Given the description of an element on the screen output the (x, y) to click on. 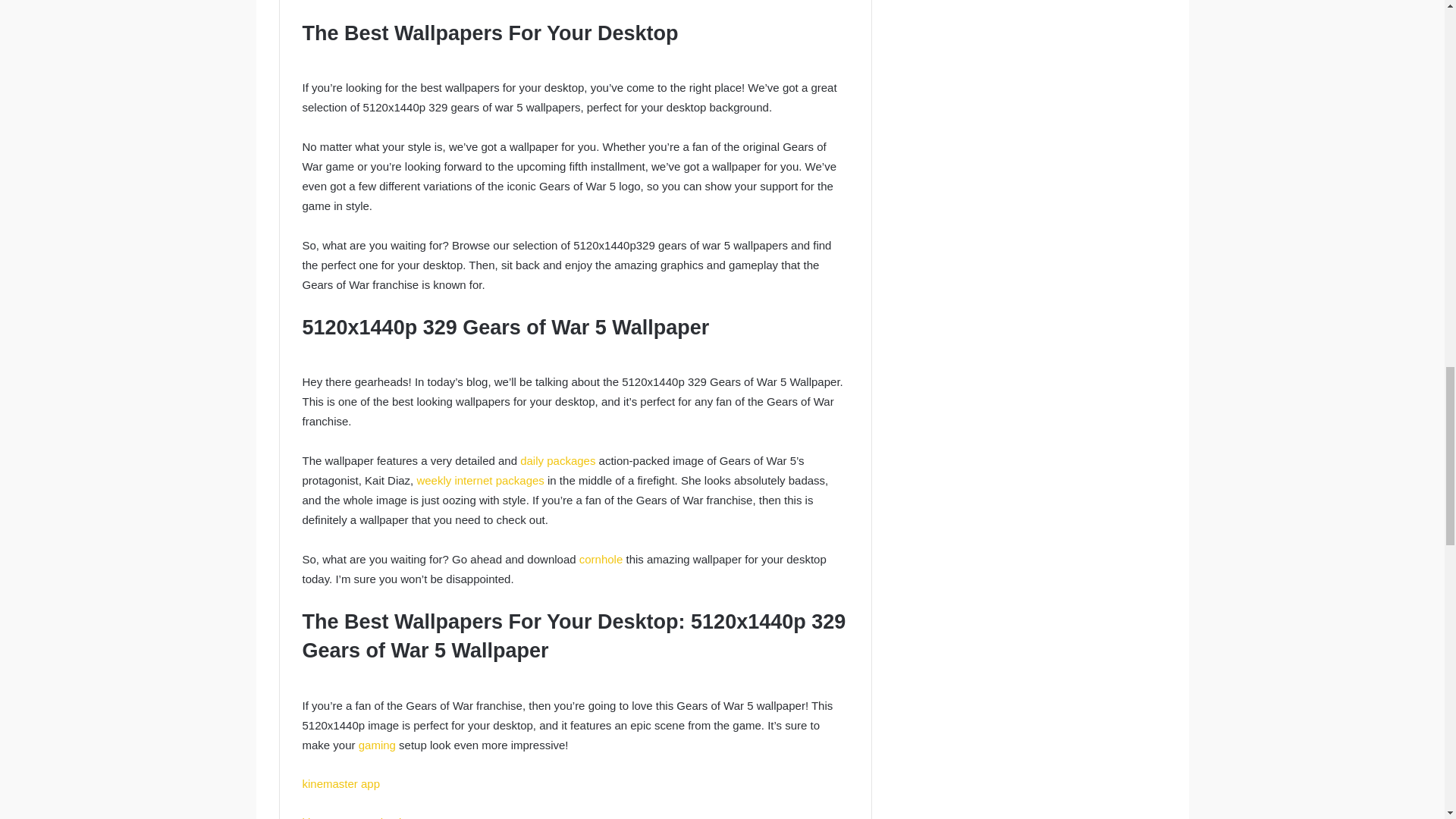
cornhole (601, 558)
weekly internet packages (479, 480)
kinemaster app (340, 783)
daily packages (557, 460)
gaming (377, 744)
kinemaster mod apk (352, 817)
